Given the description of an element on the screen output the (x, y) to click on. 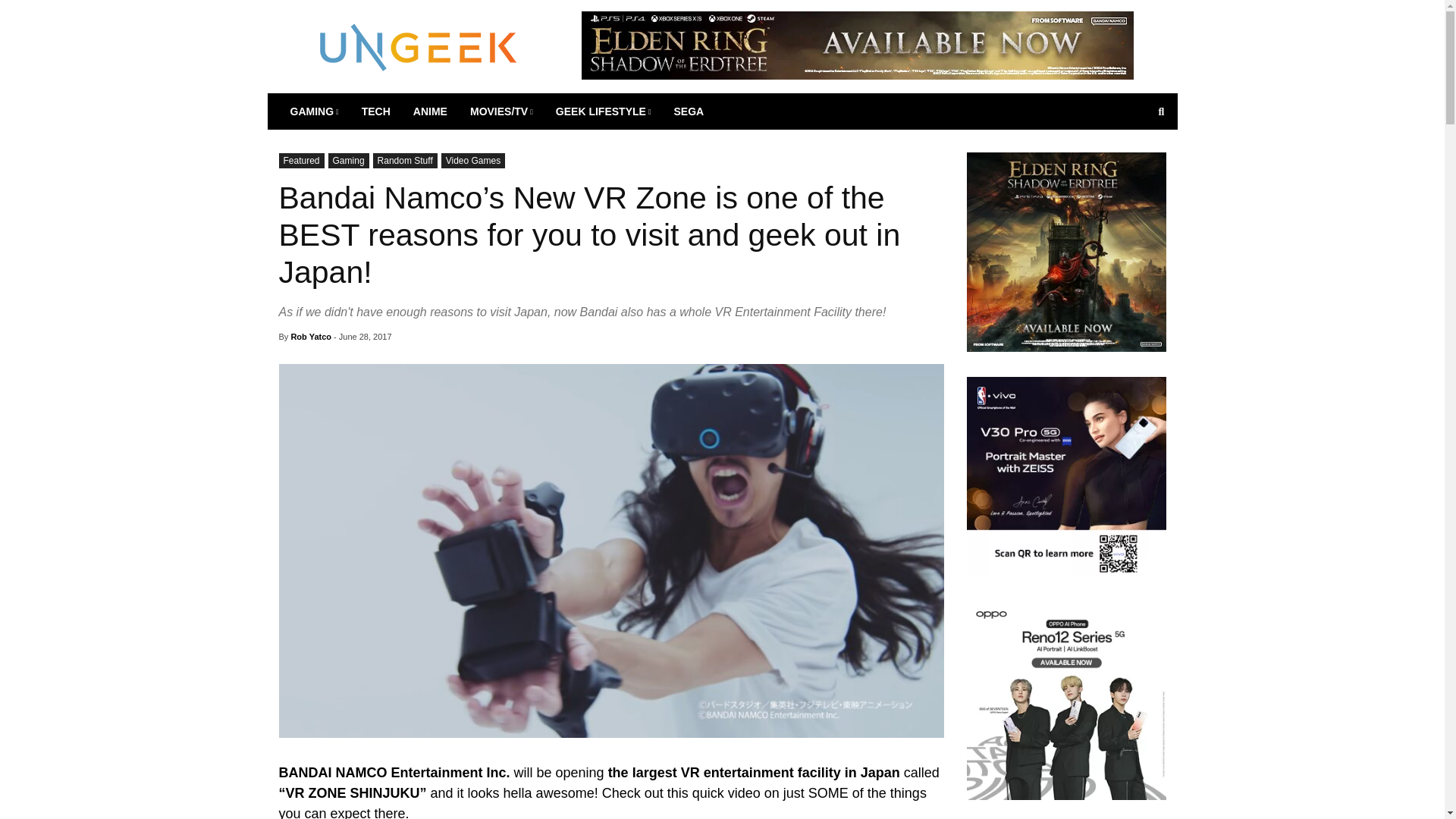
Posts by Rob Yatco (310, 336)
June 28, 2017 (365, 336)
Video Games (473, 160)
Random Stuff (405, 160)
Gaming (349, 160)
GAMING (314, 111)
UnGeek (419, 46)
Featured (301, 160)
TECH (375, 111)
Rob Yatco (310, 336)
ANIME (429, 111)
GEEK LIFESTYLE (603, 111)
UnGeek (418, 46)
SEGA (689, 111)
